Given the description of an element on the screen output the (x, y) to click on. 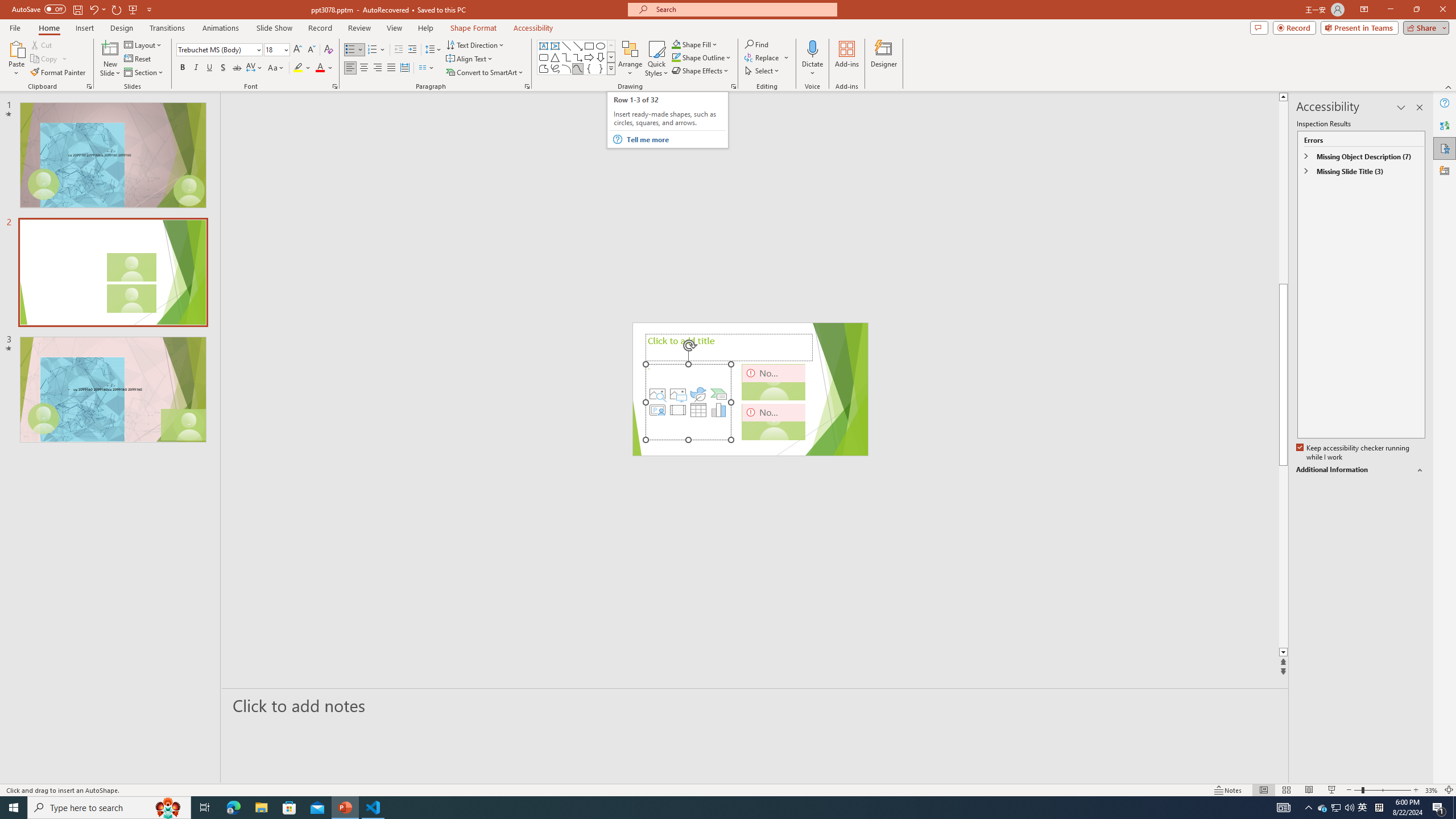
Stock Images (656, 394)
Insert Table (697, 409)
